Given the description of an element on the screen output the (x, y) to click on. 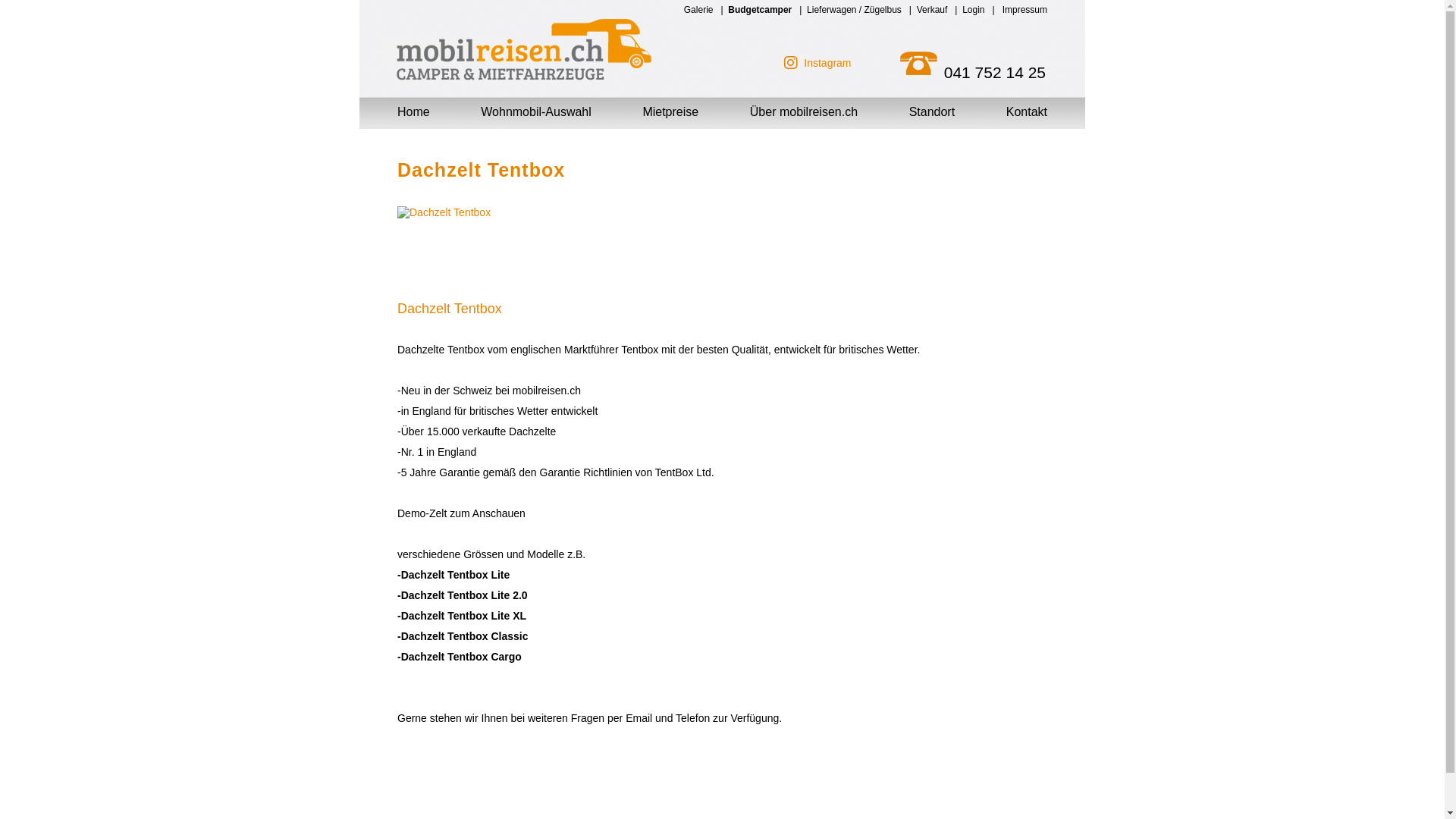
Wohnmobil-Auswahl Element type: text (535, 111)
Standort Element type: text (931, 111)
041 752 14 25 Element type: text (971, 72)
Galerie Element type: text (698, 9)
Mietpreise Element type: text (670, 111)
Instagram Element type: text (826, 62)
Home Element type: text (413, 111)
Login Element type: text (973, 9)
Budgetcamper Element type: text (759, 9)
Dachzelt Tentbox Element type: text (719, 308)
Impressum Element type: text (1024, 9)
Kontakt Element type: text (1026, 111)
Dachzelt Tentbox Element type: hover (473, 252)
Verkauf Element type: text (931, 9)
